Given the description of an element on the screen output the (x, y) to click on. 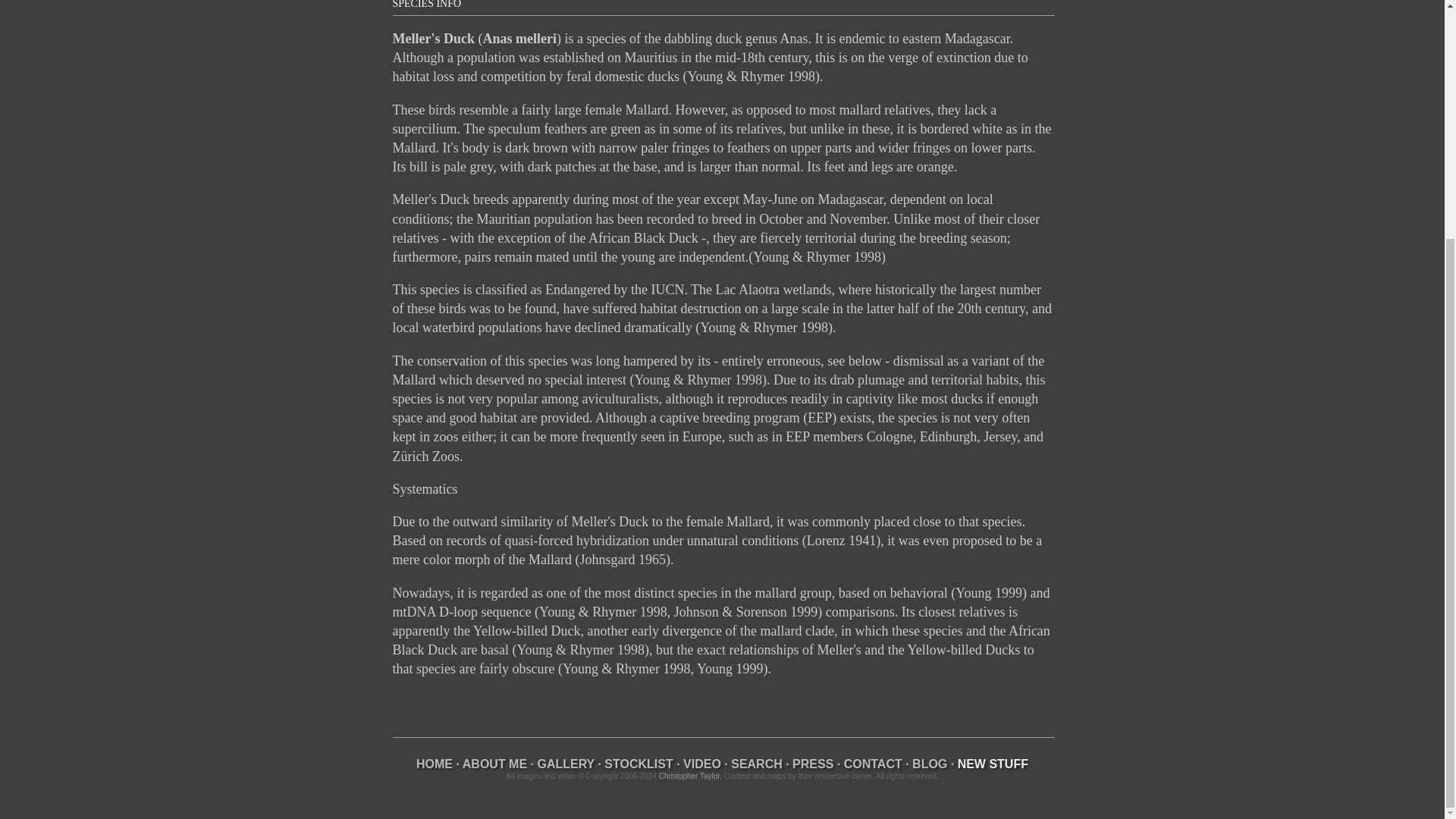
Contact Me (873, 763)
Blog (929, 763)
Home (434, 763)
About Me (495, 763)
Search (756, 763)
Press (812, 763)
Video Footage Gallery (701, 763)
New Images - LAST UPDATED July 9th, 2024! (992, 763)
HOME (434, 763)
NEW STUFF (992, 763)
ABOUT ME (495, 763)
GALLERY (565, 763)
VIDEO (701, 763)
Christopher Taylor (689, 776)
Photo Galleries (565, 763)
